Given the description of an element on the screen output the (x, y) to click on. 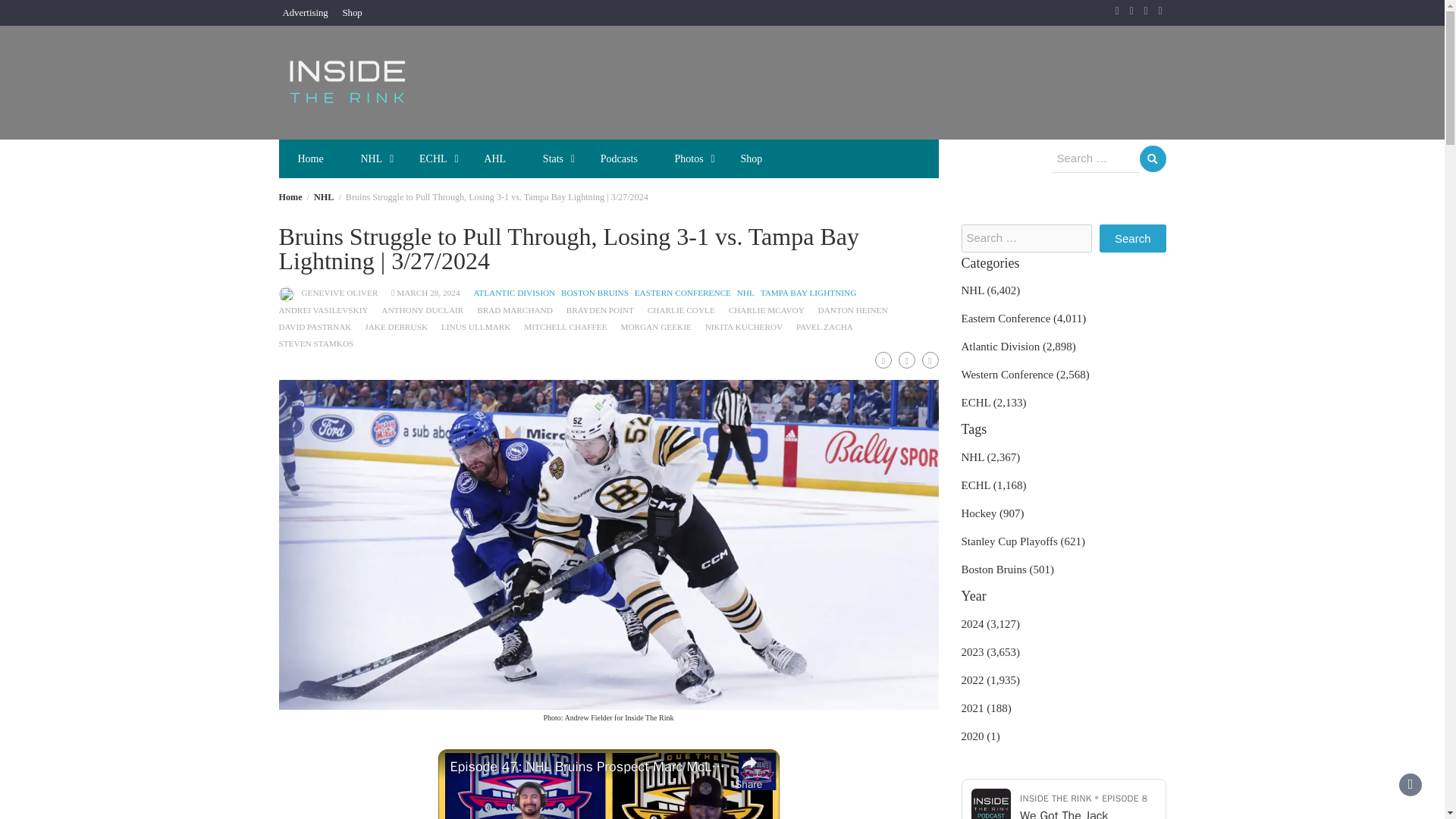
NHL (371, 158)
Search (1132, 238)
Shop (351, 12)
Shop (351, 12)
Search (1132, 238)
Home (309, 158)
Search (1152, 158)
Search for: (1096, 158)
Advertising (304, 12)
Advertising (304, 12)
Search (1152, 158)
